Given the description of an element on the screen output the (x, y) to click on. 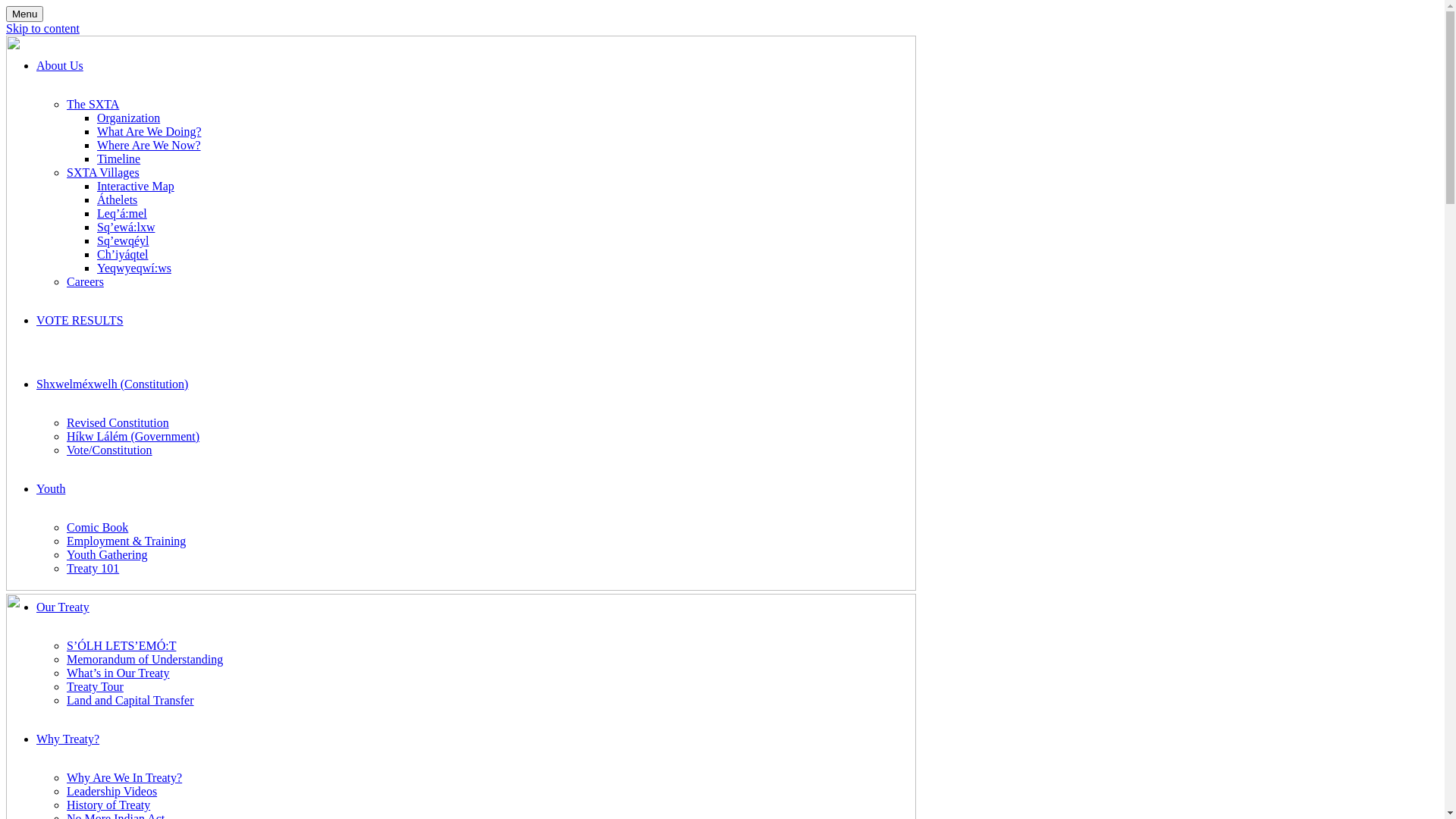
Where Are We Now? Element type: text (148, 144)
Treaty 101 Element type: text (92, 567)
Careers Element type: text (84, 281)
Why Are We In Treaty? Element type: text (124, 777)
Memorandum of Understanding Element type: text (144, 658)
History of Treaty Element type: text (108, 804)
Menu Element type: text (24, 13)
Employment & Training Element type: text (125, 540)
Organization Element type: text (128, 117)
Interactive Map Element type: text (135, 185)
SXTA Villages Element type: text (102, 172)
Youth Gathering Element type: text (106, 554)
Youth Element type: text (50, 488)
Our Treaty Element type: text (62, 606)
Why Treaty? Element type: text (67, 738)
About Us Element type: text (59, 65)
Land and Capital Transfer Element type: text (130, 699)
Treaty Tour Element type: text (94, 686)
What Are We Doing? Element type: text (148, 131)
VOTE RESULTS Element type: text (79, 319)
Timeline Element type: text (118, 158)
Skip to content Element type: text (42, 27)
The SXTA Element type: text (92, 103)
Revised Constitution Element type: text (117, 422)
Vote/Constitution Element type: text (109, 449)
Leadership Videos Element type: text (111, 790)
Comic Book Element type: text (97, 526)
